Given the description of an element on the screen output the (x, y) to click on. 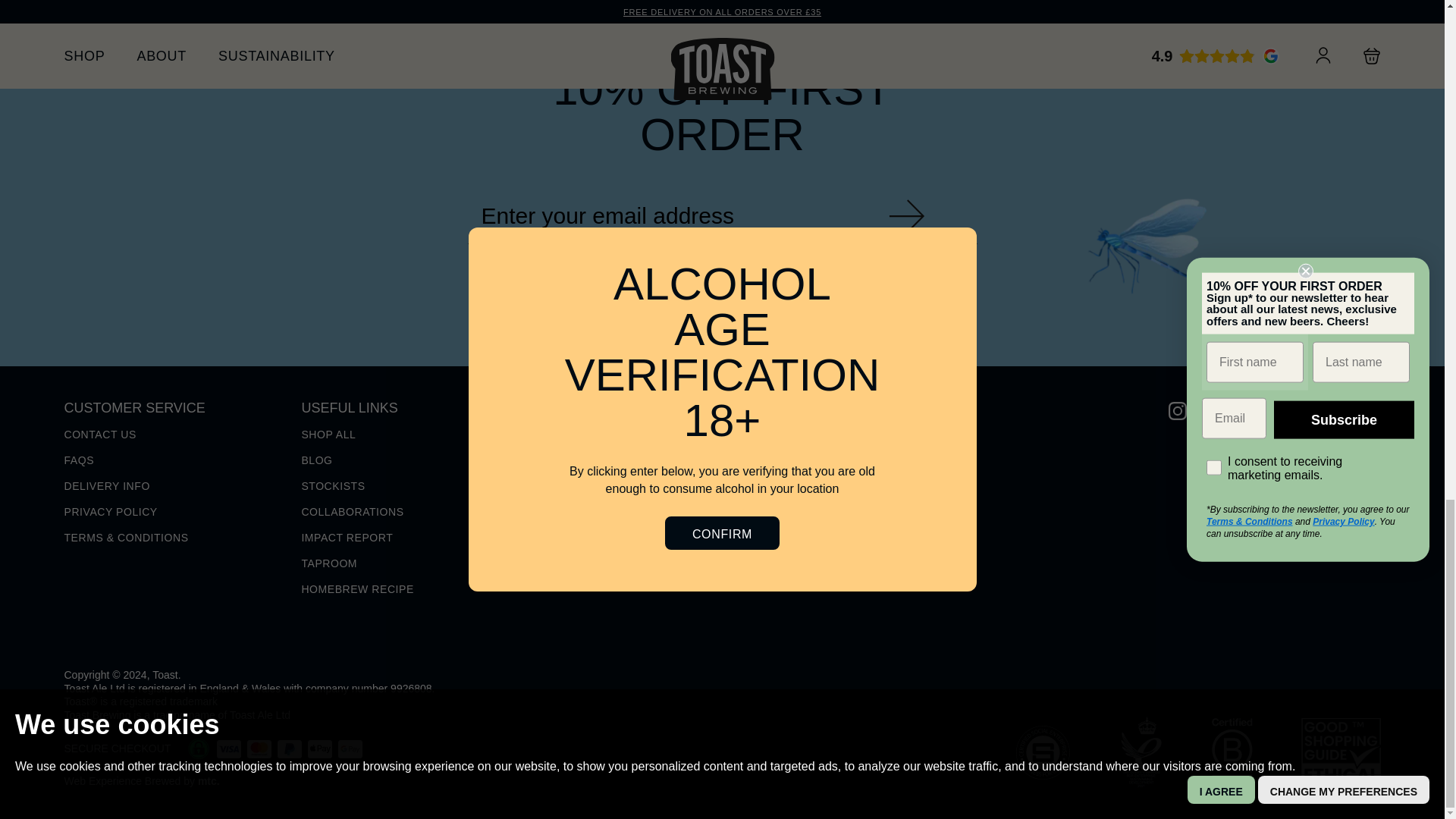
Opens in a new window (208, 780)
SHOP ALL (328, 434)
mtc. (208, 780)
COLLABORATIONS (352, 511)
PRIVACY POLICY (110, 511)
FAQS (79, 460)
Open Instagram page (1176, 409)
TAPROOM (328, 563)
Open Good Shopping Guide page (1340, 752)
HOMEBREW RECIPE (357, 589)
Open Facebook page (1273, 409)
Open LinkedIn page (1224, 409)
DELIVERY INFO (106, 485)
STOCKISTS (333, 485)
